Given the description of an element on the screen output the (x, y) to click on. 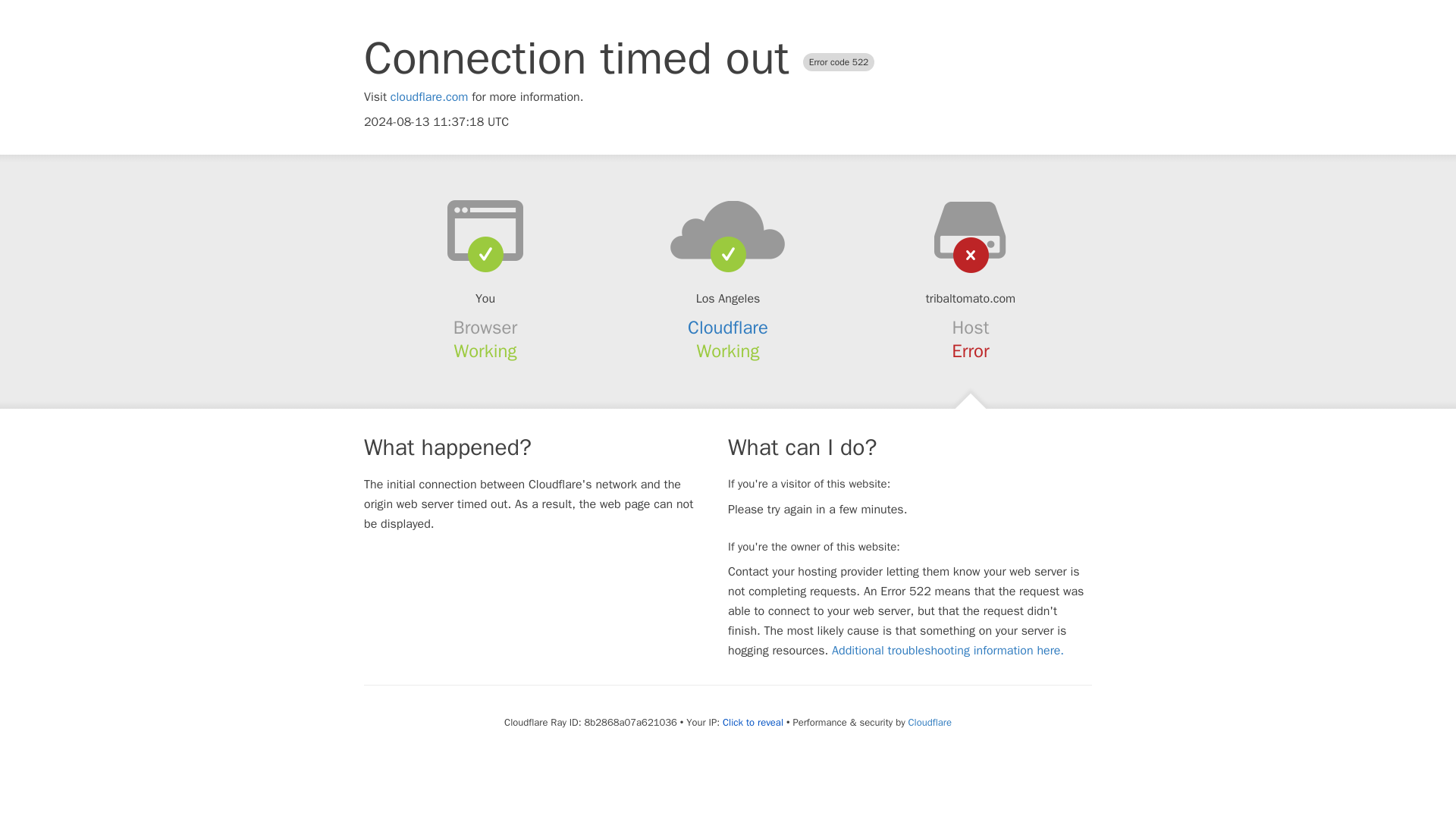
cloudflare.com (429, 96)
Additional troubleshooting information here. (947, 650)
Cloudflare (930, 721)
Cloudflare (727, 327)
Click to reveal (752, 722)
